Given the description of an element on the screen output the (x, y) to click on. 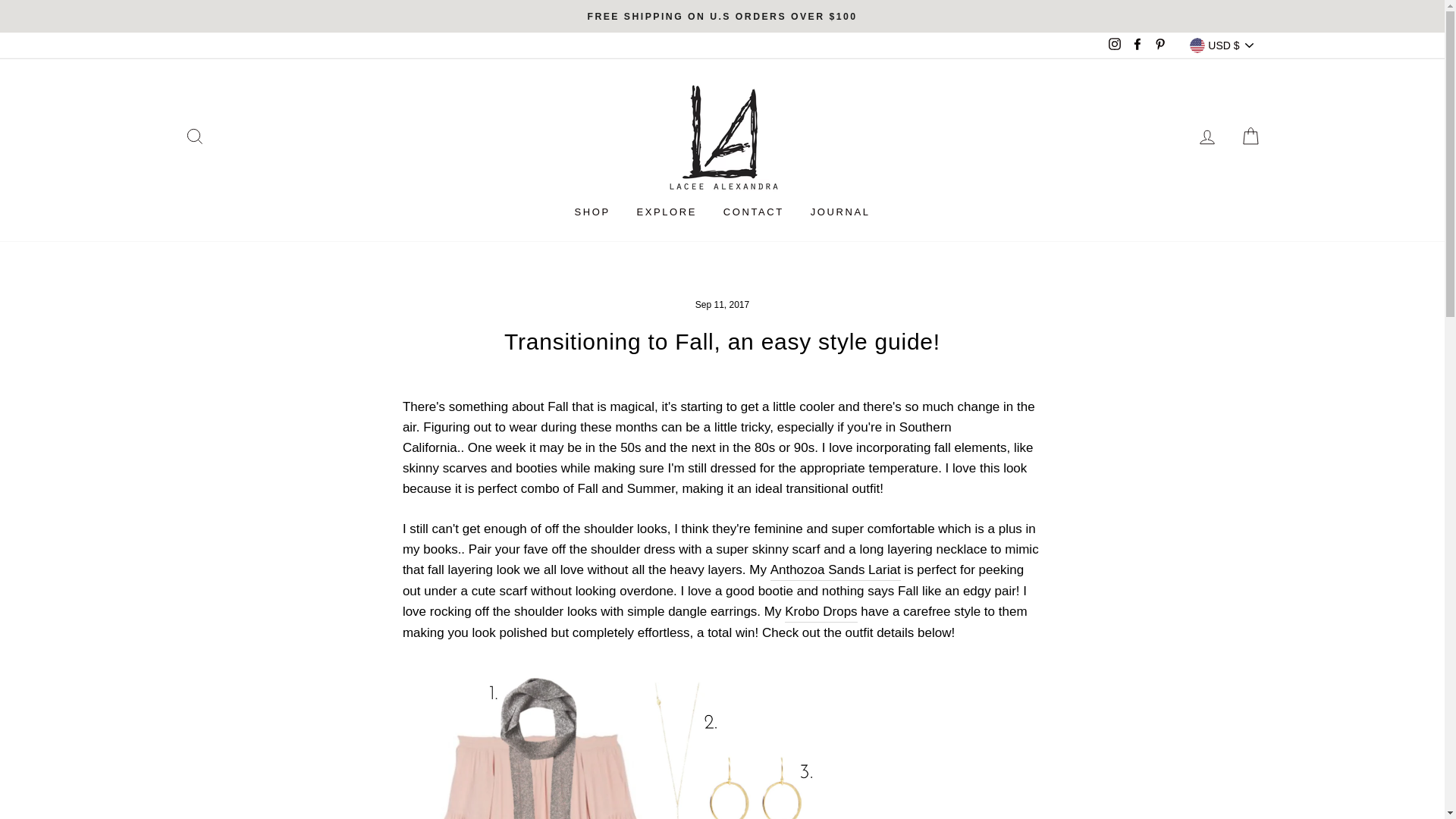
Long Layering Lariat in Gold (835, 569)
Krobo Earrings (820, 611)
